Given the description of an element on the screen output the (x, y) to click on. 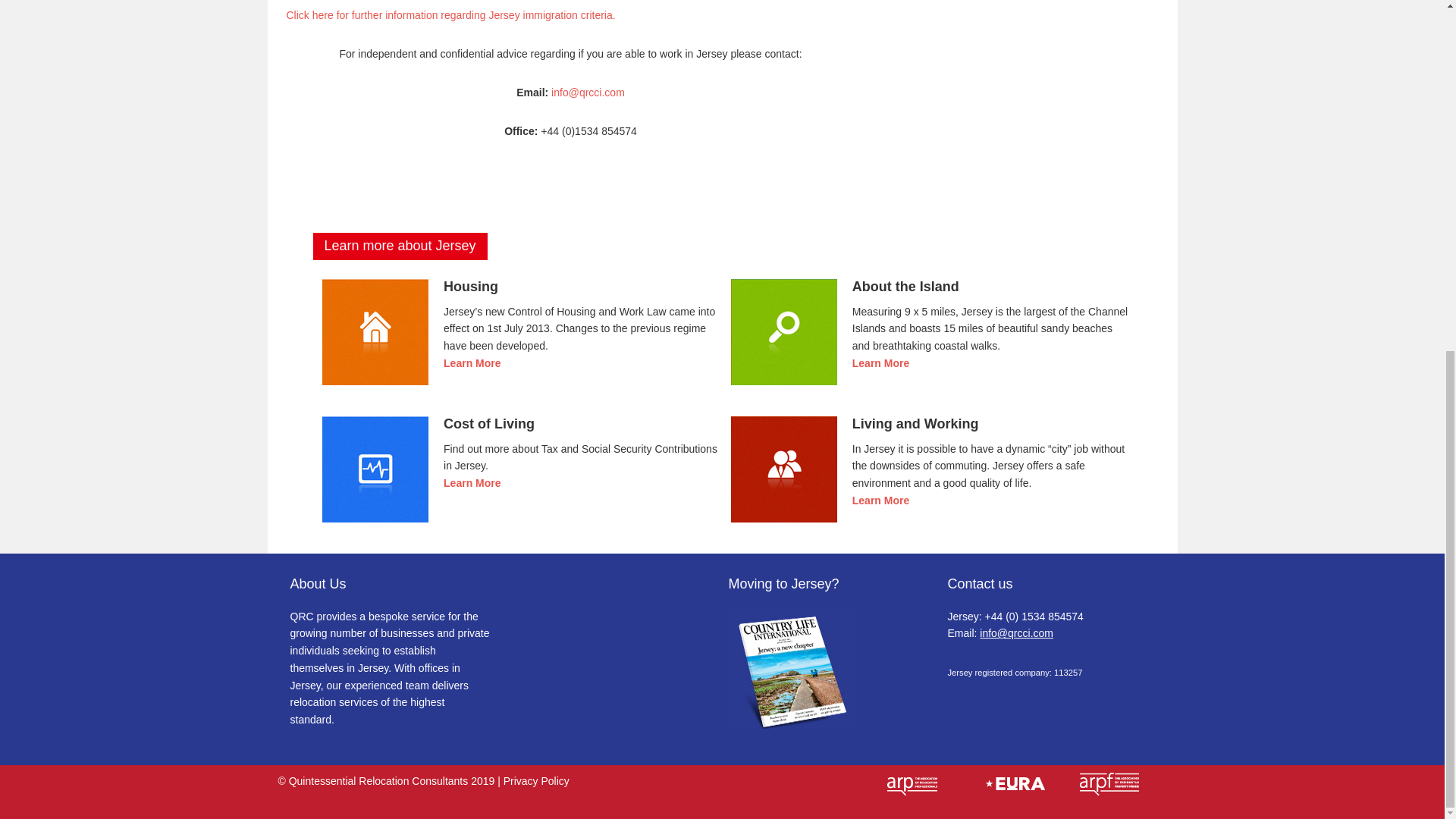
Country Life International Summer 2018 (791, 726)
About the Island (783, 331)
Housing (374, 331)
Learn More (520, 363)
Cost of Living (374, 469)
Learn More (929, 500)
Learn More (520, 483)
Immigration to Jersey (587, 92)
Living and Working (783, 469)
Living and Working (783, 469)
